Given the description of an element on the screen output the (x, y) to click on. 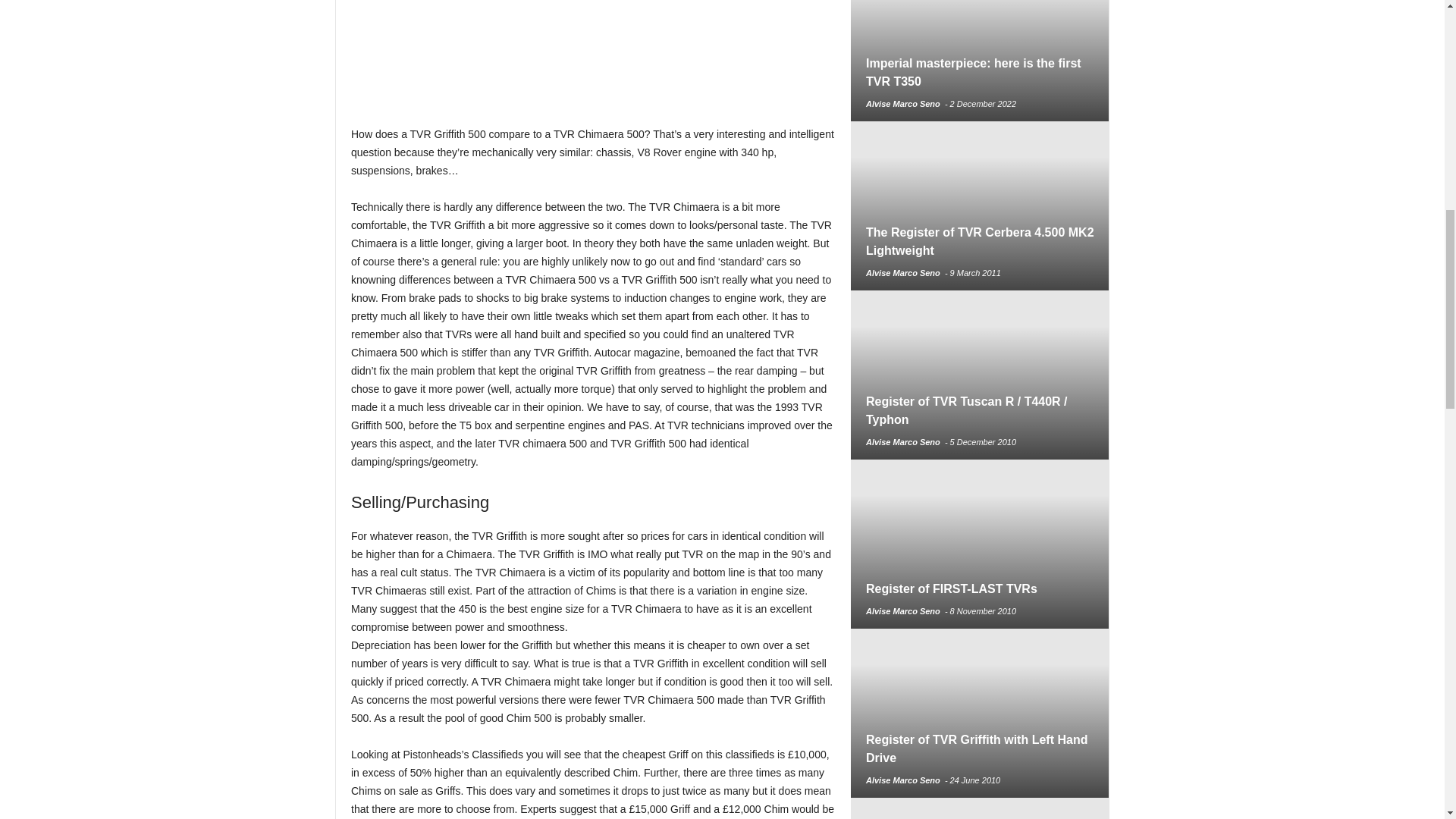
Imperial masterpiece: here is the first TVR T350 (979, 60)
